Given the description of an element on the screen output the (x, y) to click on. 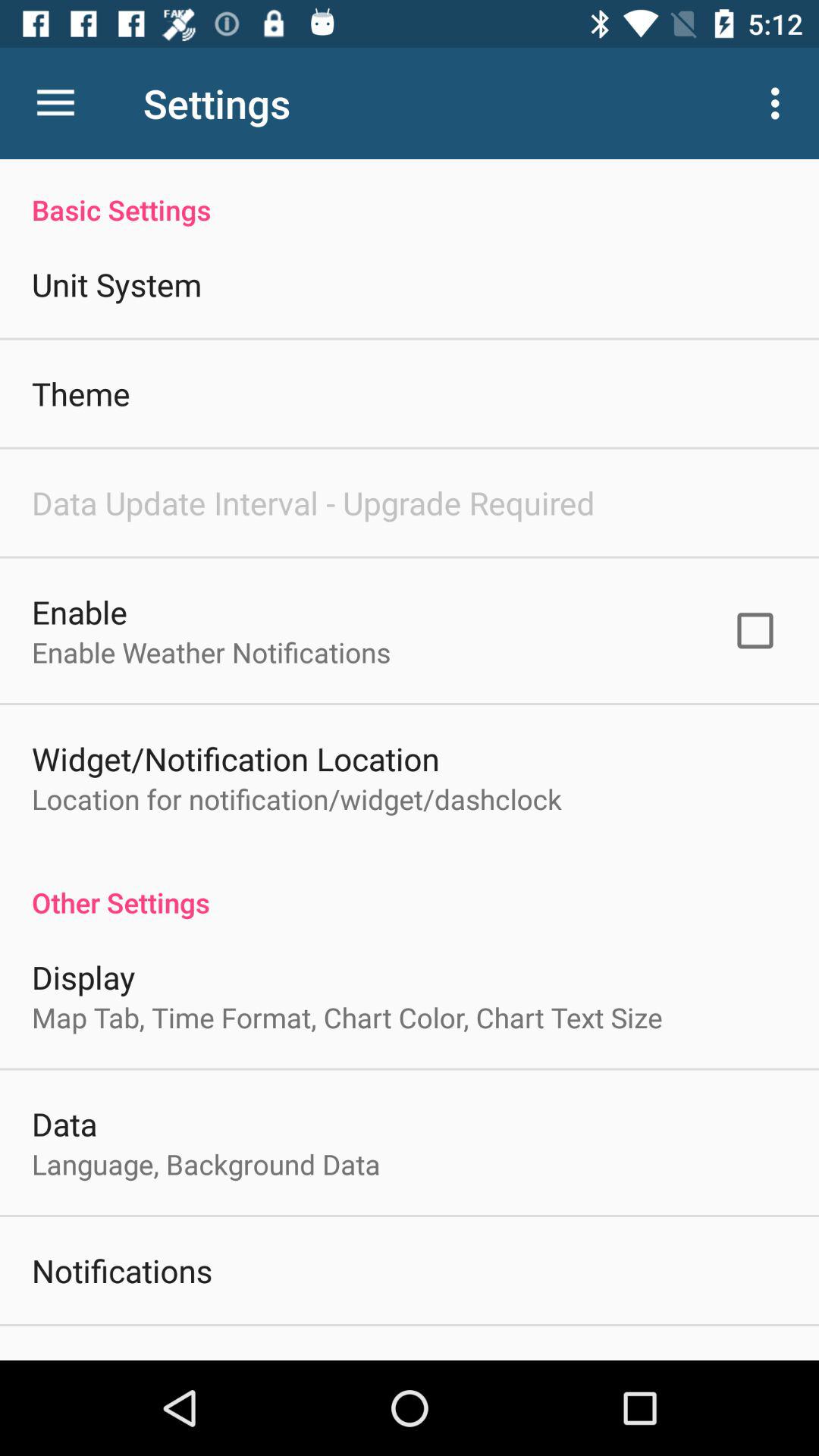
press icon above theme icon (116, 283)
